Given the description of an element on the screen output the (x, y) to click on. 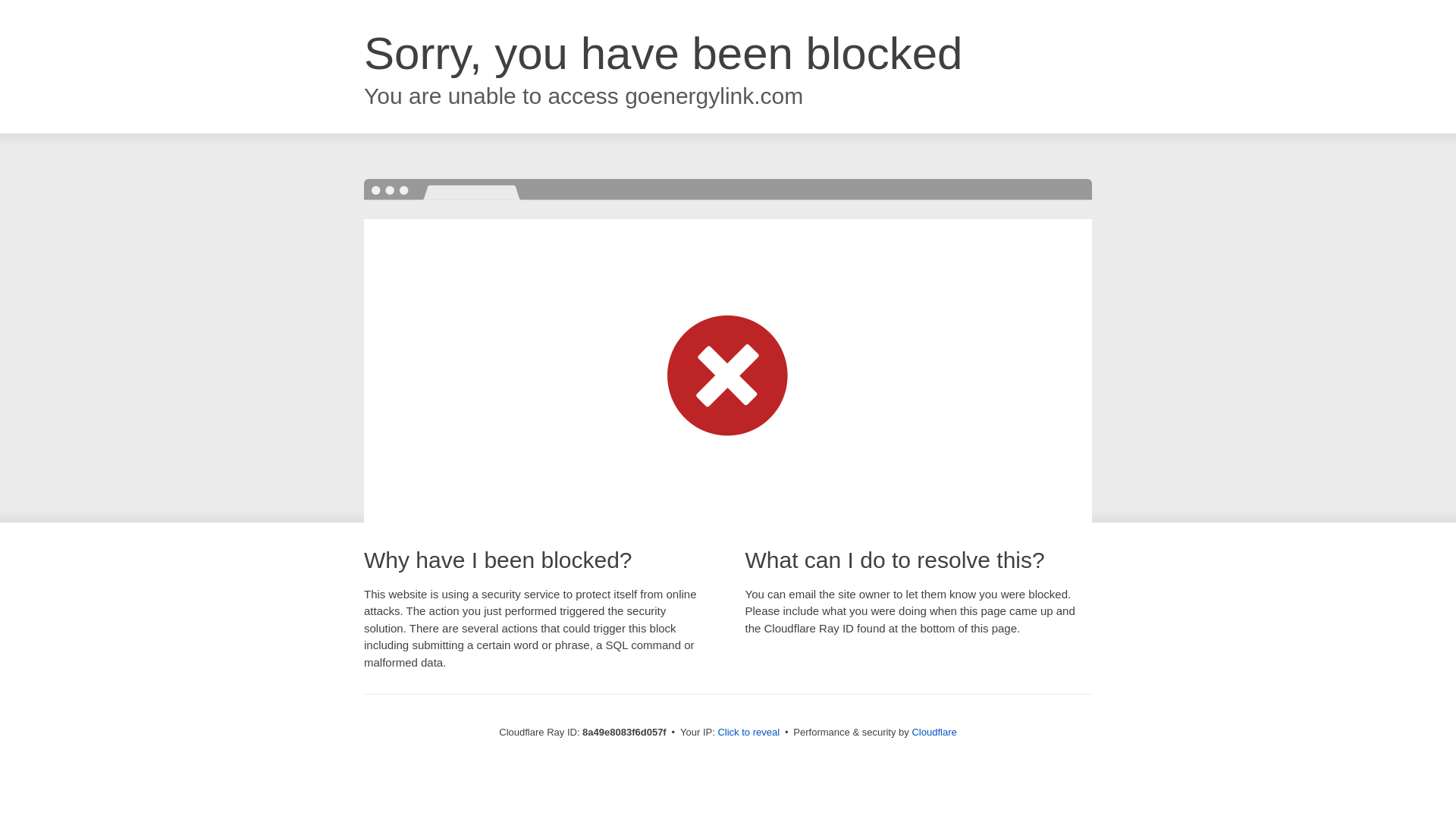
Click to reveal (747, 732)
Cloudflare (933, 731)
